Given the description of an element on the screen output the (x, y) to click on. 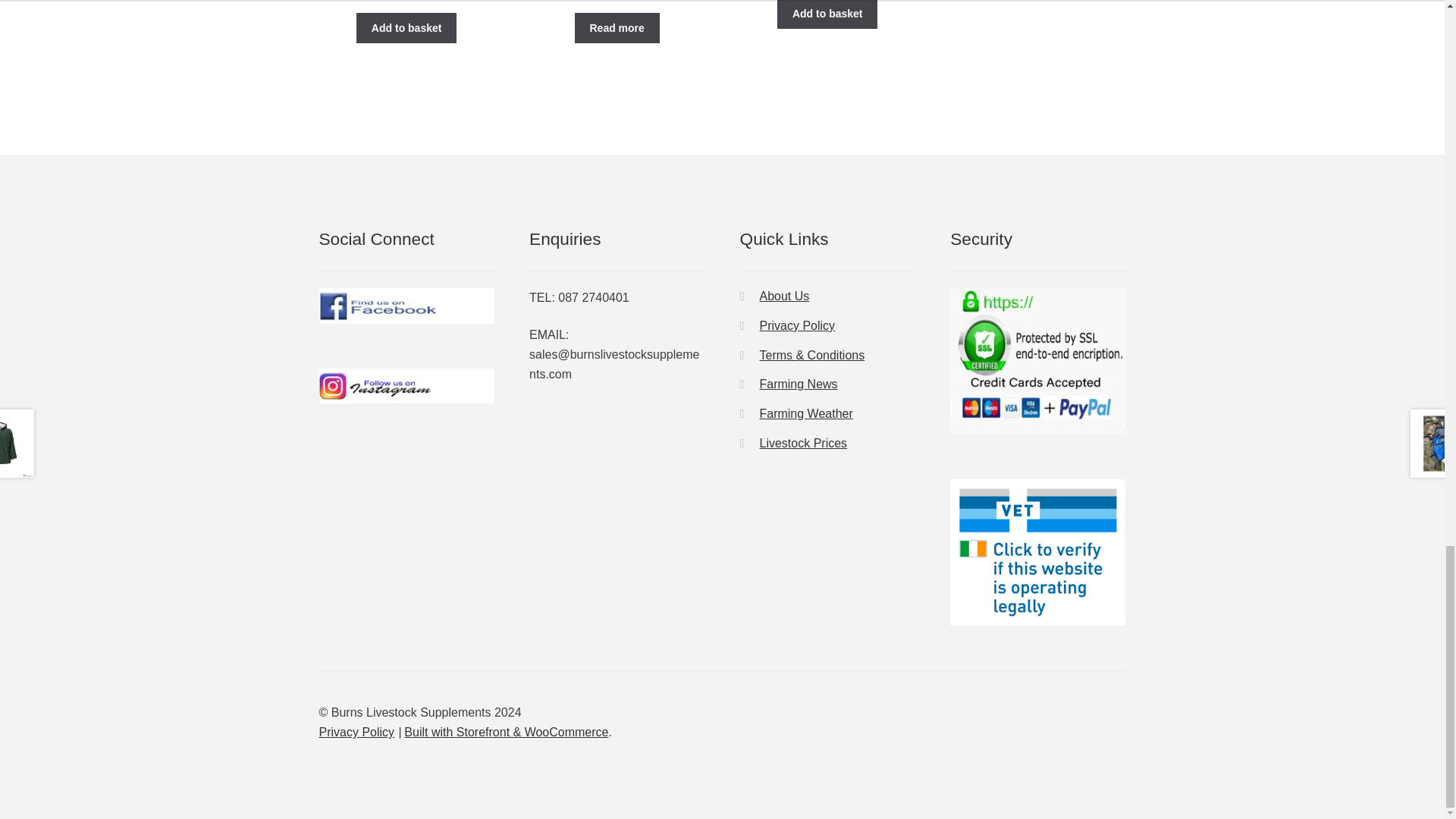
WooCommerce - The Best eCommerce Platform for WordPress (506, 731)
